Given the description of an element on the screen output the (x, y) to click on. 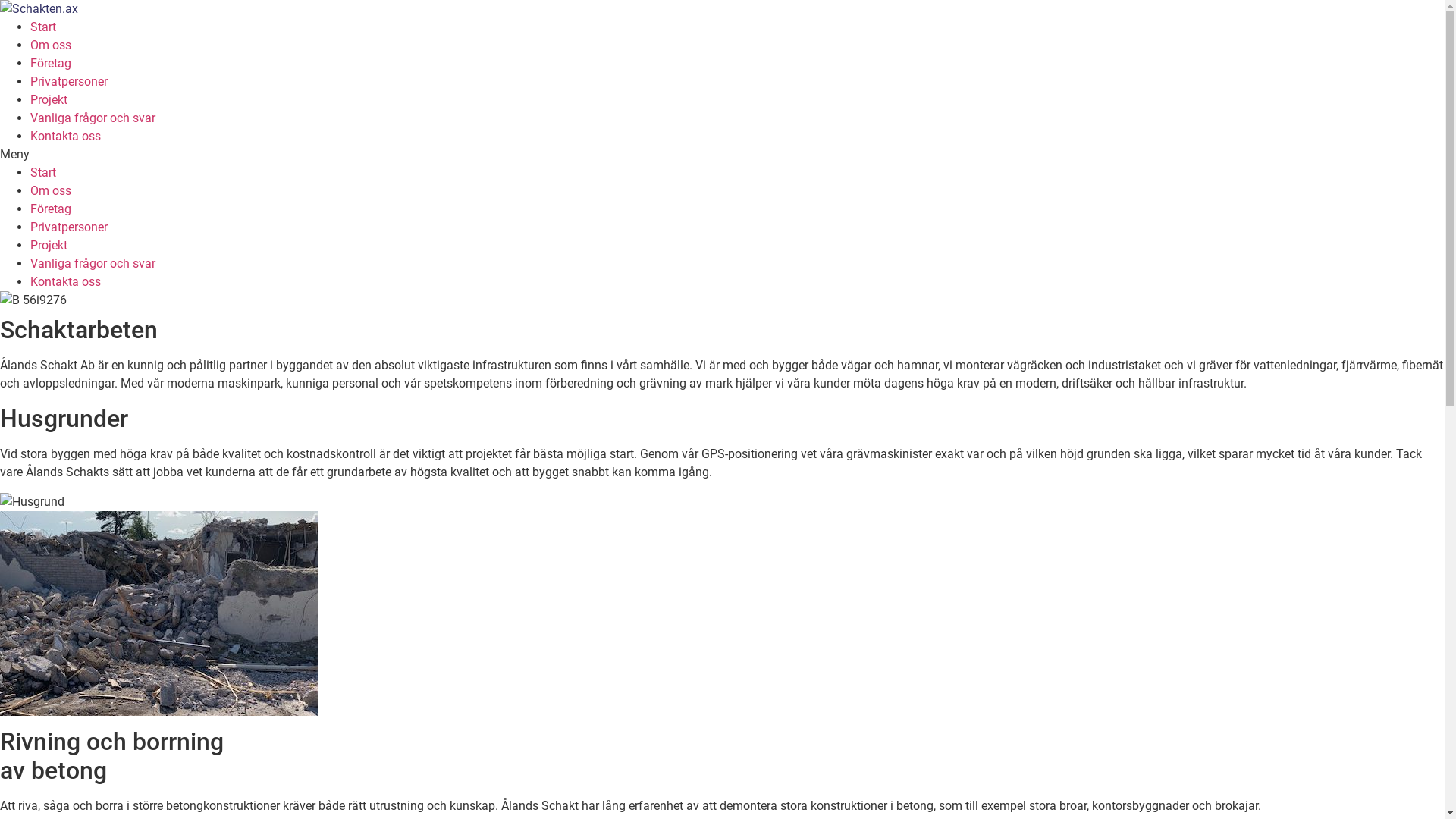
Projekt Element type: text (48, 245)
Om oss Element type: text (50, 44)
Start Element type: text (43, 26)
Kontakta oss Element type: text (65, 281)
Privatpersoner Element type: text (68, 81)
Projekt Element type: text (48, 99)
Om oss Element type: text (50, 190)
Start Element type: text (43, 172)
Kontakta oss Element type: text (65, 135)
Privatpersoner Element type: text (68, 226)
